Given the description of an element on the screen output the (x, y) to click on. 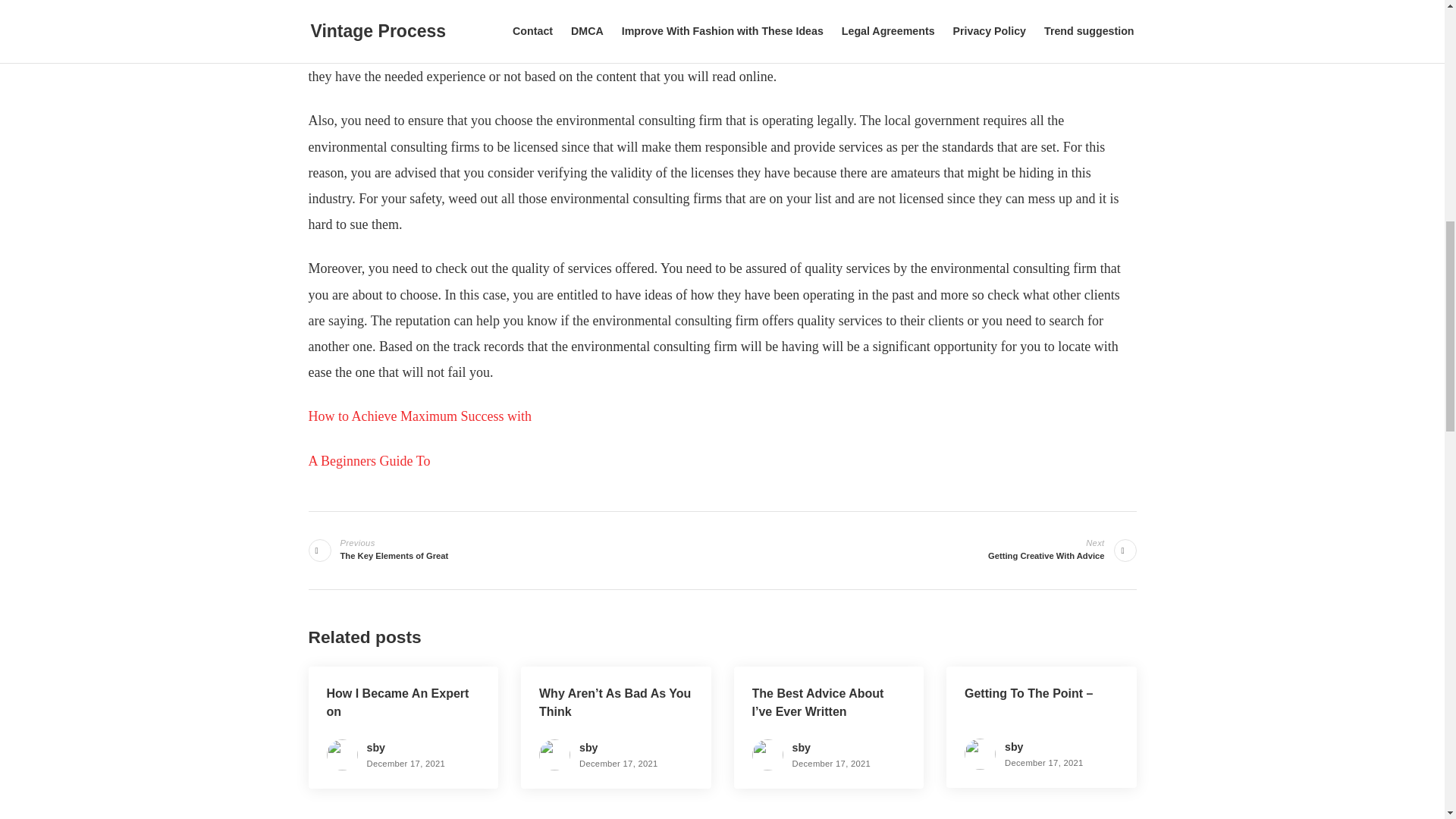
sby (1013, 746)
Posts by sby (588, 747)
Posts by sby (1045, 549)
Posts by sby (375, 747)
How to Achieve Maximum Success with (1013, 746)
sby (419, 416)
A Beginners Guide To (801, 747)
sby (393, 549)
Posts by sby (368, 460)
sby (588, 747)
How I Became An Expert on (801, 747)
